Given the description of an element on the screen output the (x, y) to click on. 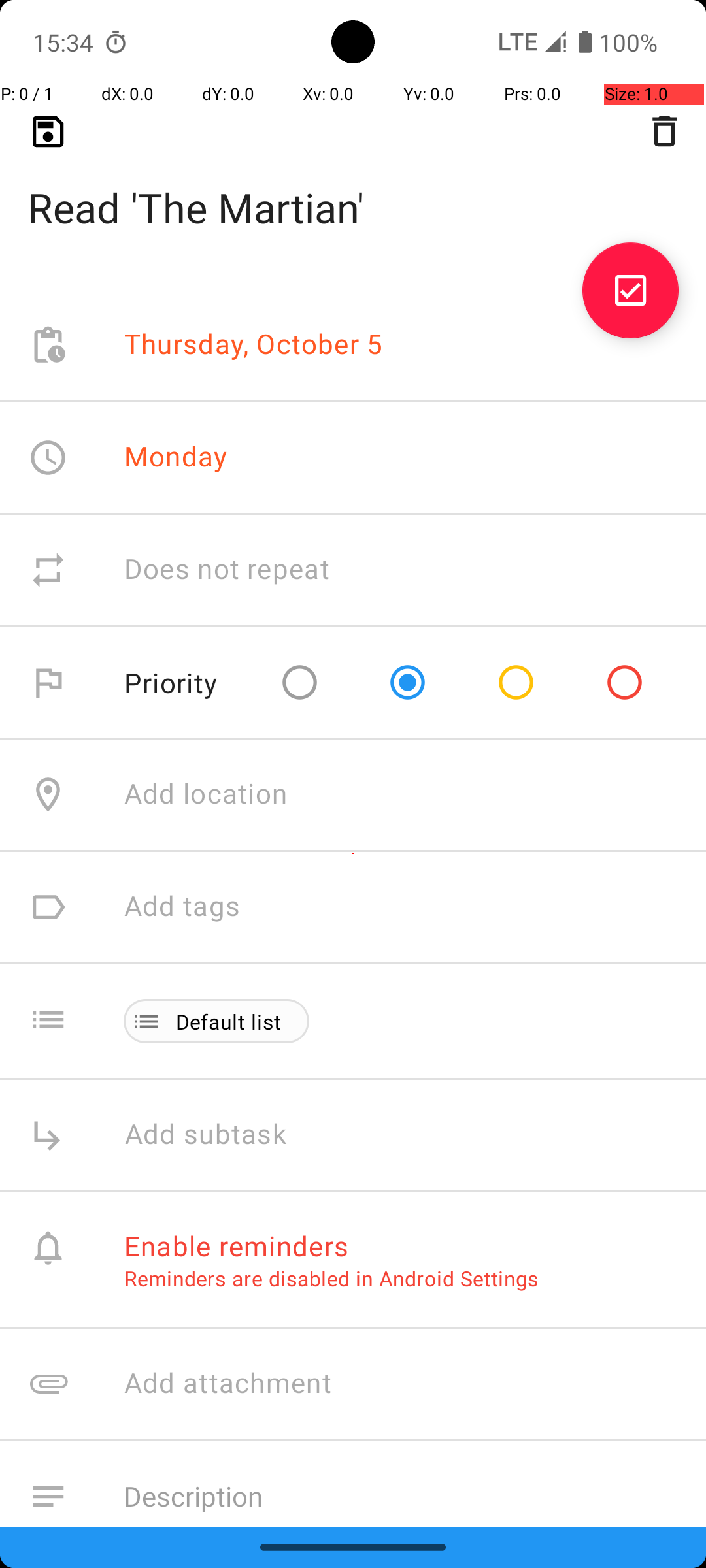
Thursday, October 5 Element type: android.widget.TextView (253, 344)
